Given the description of an element on the screen output the (x, y) to click on. 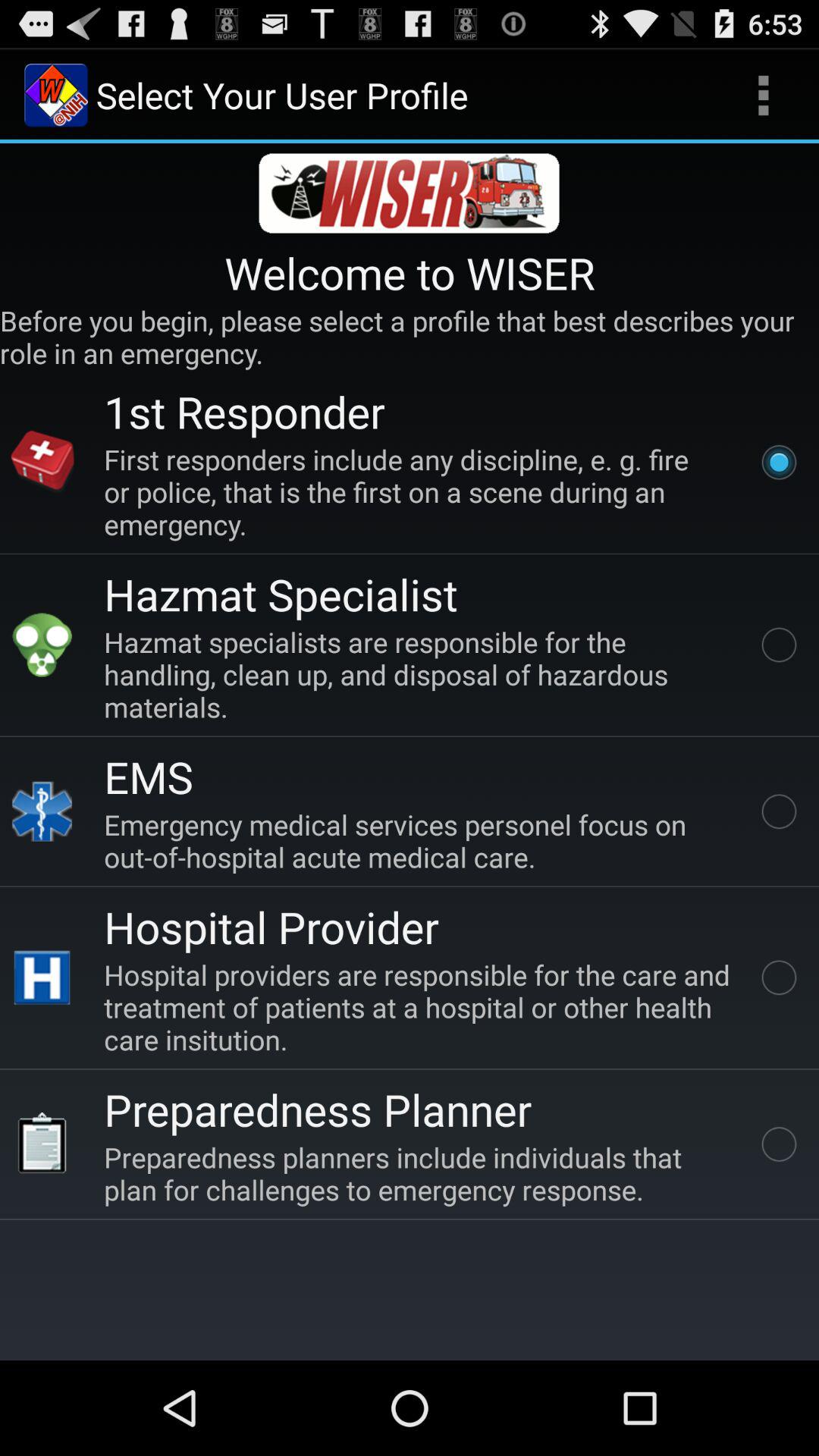
select the preparedness planner (317, 1109)
